Given the description of an element on the screen output the (x, y) to click on. 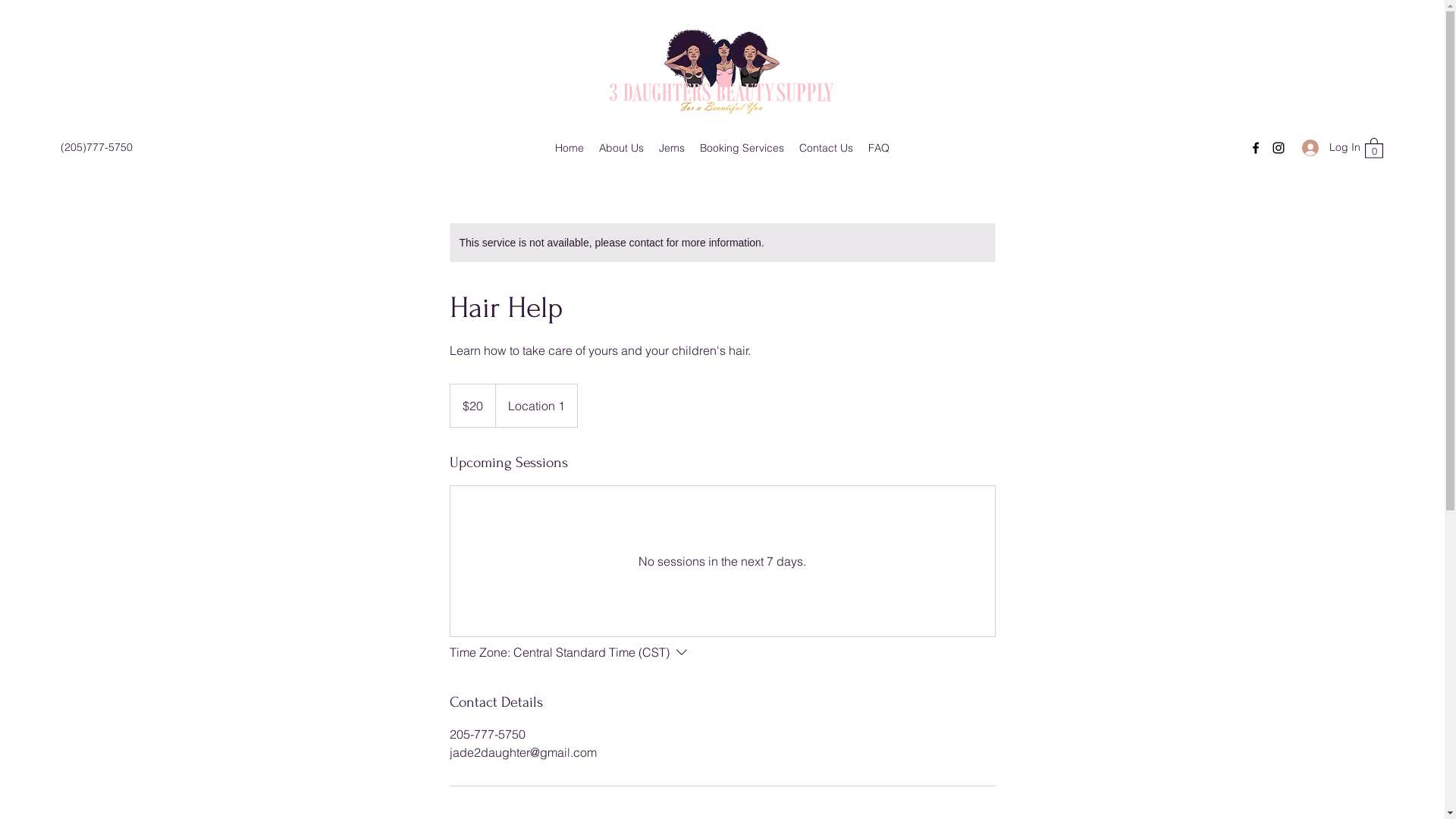
Booking Services Element type: text (741, 147)
0 Element type: text (1374, 147)
Contact Us Element type: text (825, 147)
Log In Element type: text (1325, 147)
About Us Element type: text (621, 147)
Home Element type: text (569, 147)
FAQ Element type: text (878, 147)
Time Zone:
Central Standard Time (CST) Element type: text (570, 652)
Jems Element type: text (671, 147)
